Given the description of an element on the screen output the (x, y) to click on. 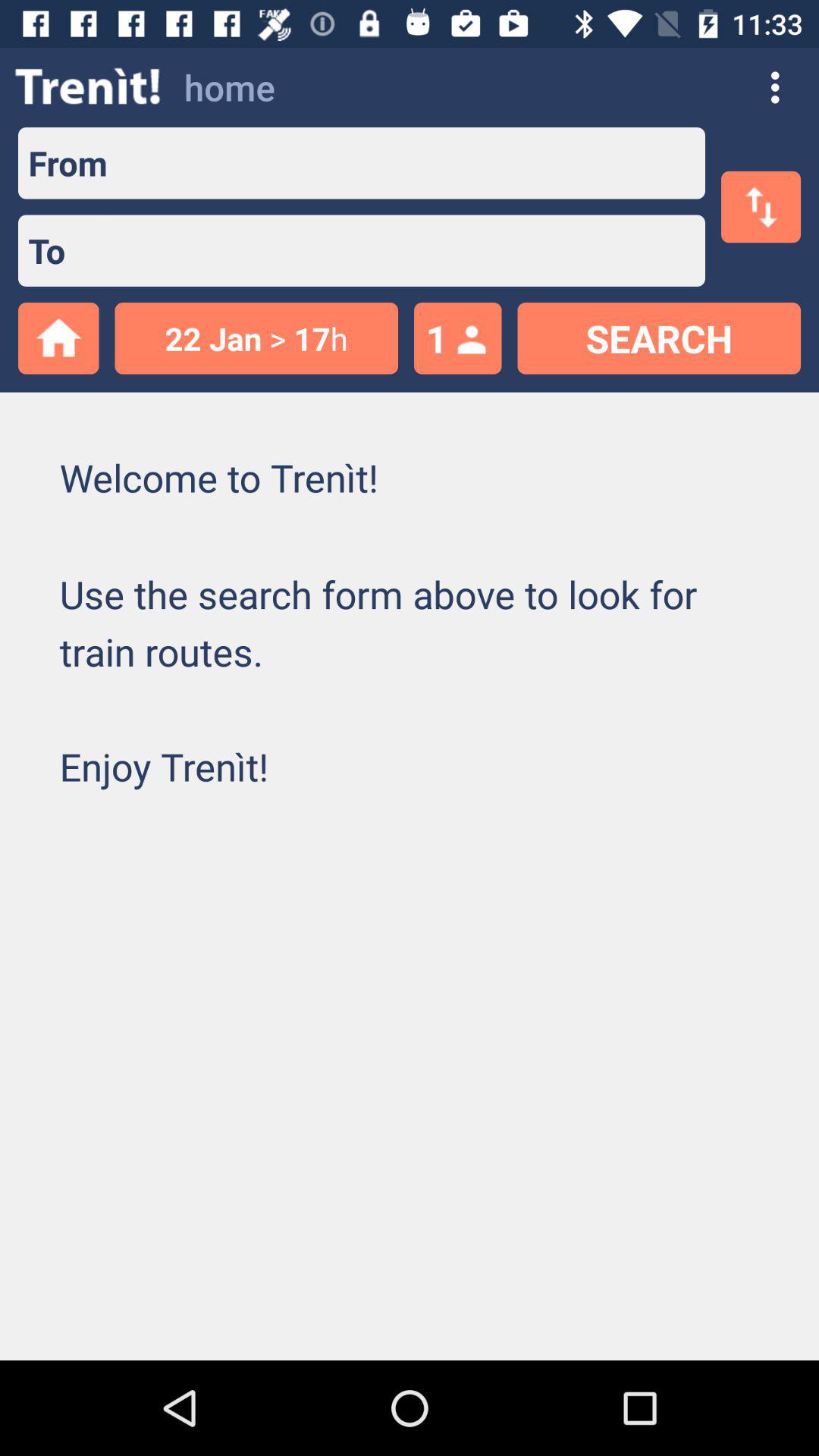
launch the item above from icon (88, 87)
